Given the description of an element on the screen output the (x, y) to click on. 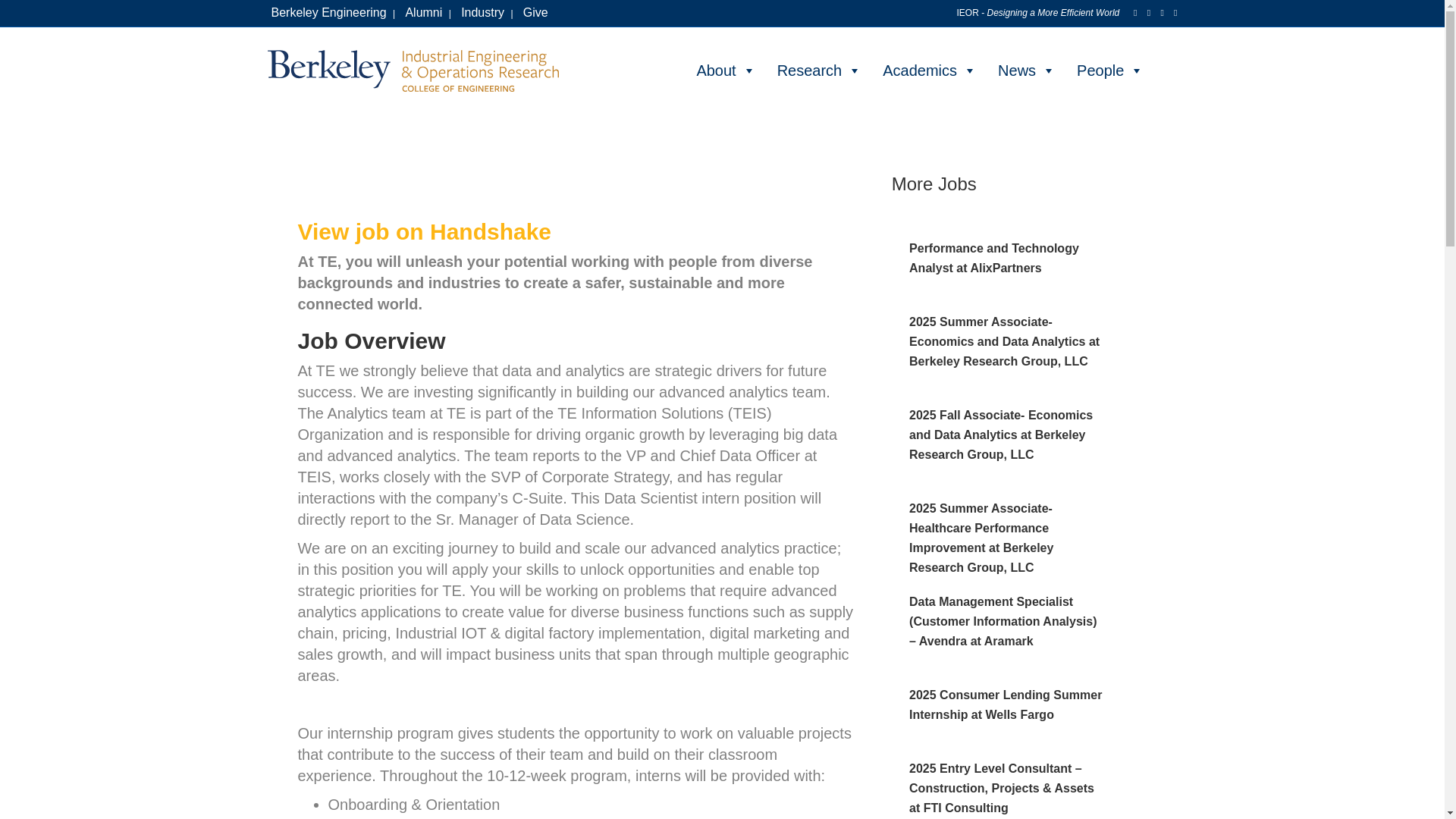
Performance and Technology Analyst at AlixPartners (993, 257)
2025 Consumer Lending Summer Internship at Wells Fargo (1005, 704)
